Given the description of an element on the screen output the (x, y) to click on. 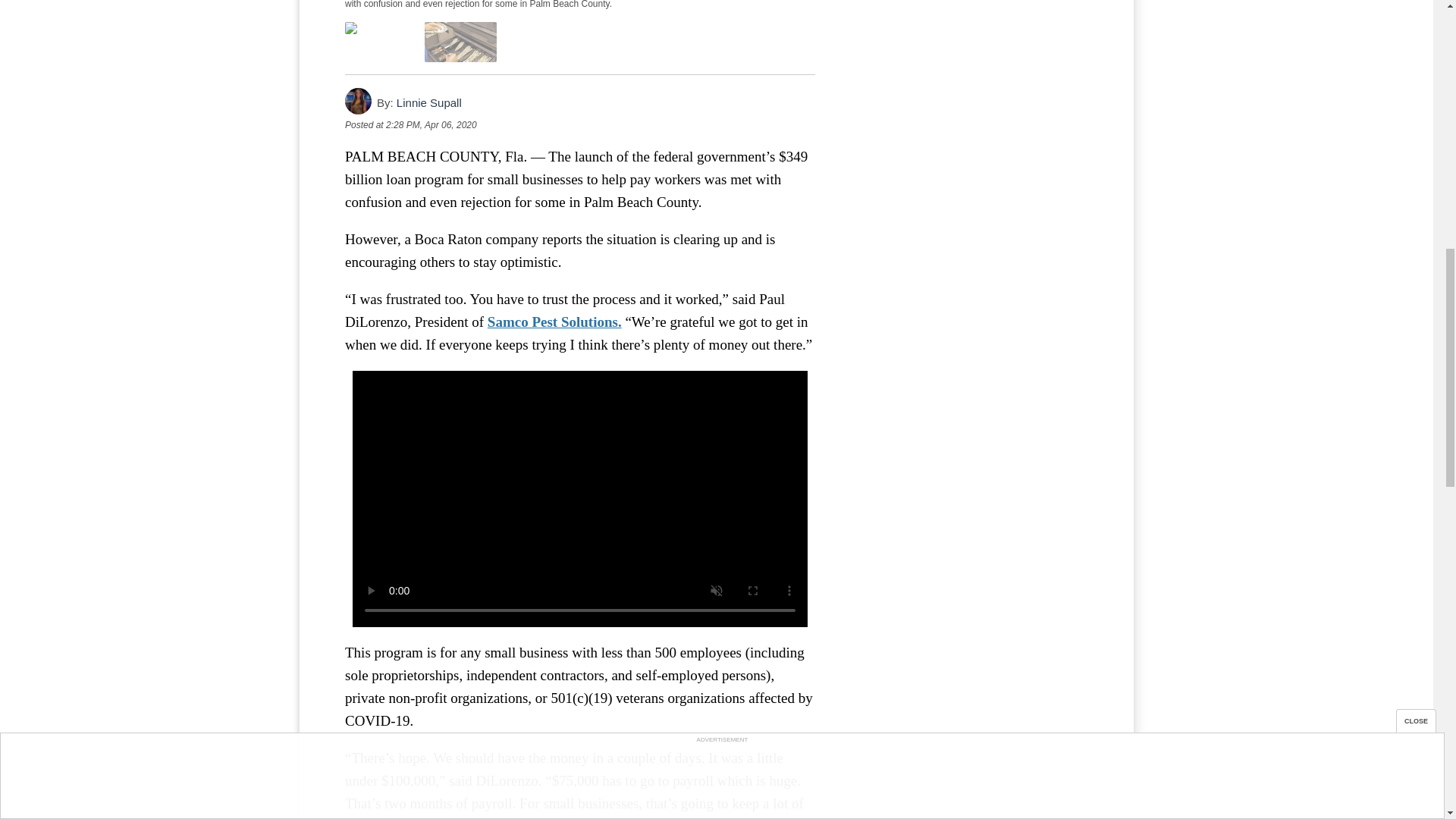
3rd party ad content (973, 57)
